Given the description of an element on the screen output the (x, y) to click on. 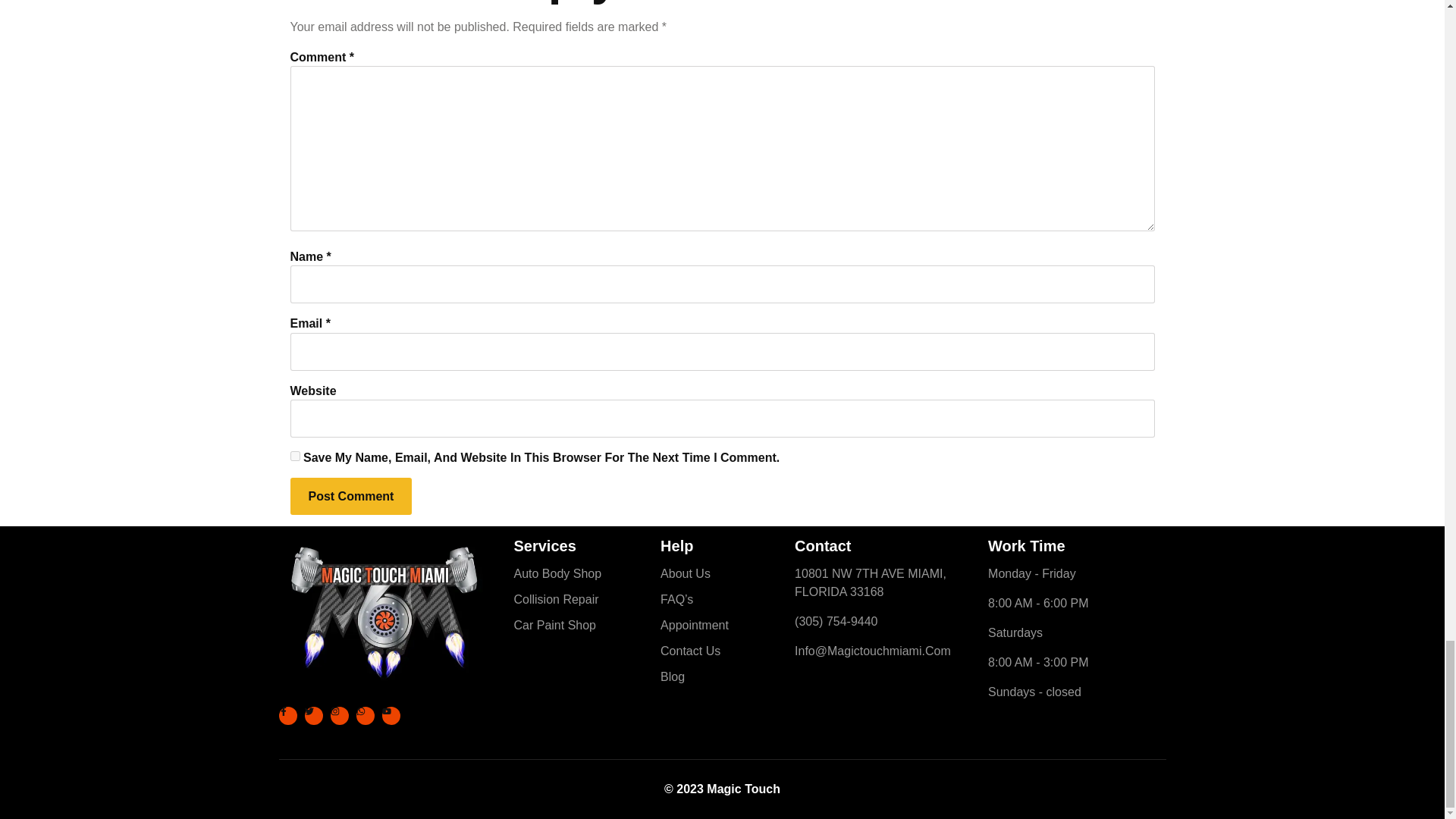
Post Comment (350, 496)
yes (294, 456)
Post Comment (350, 496)
